Given the description of an element on the screen output the (x, y) to click on. 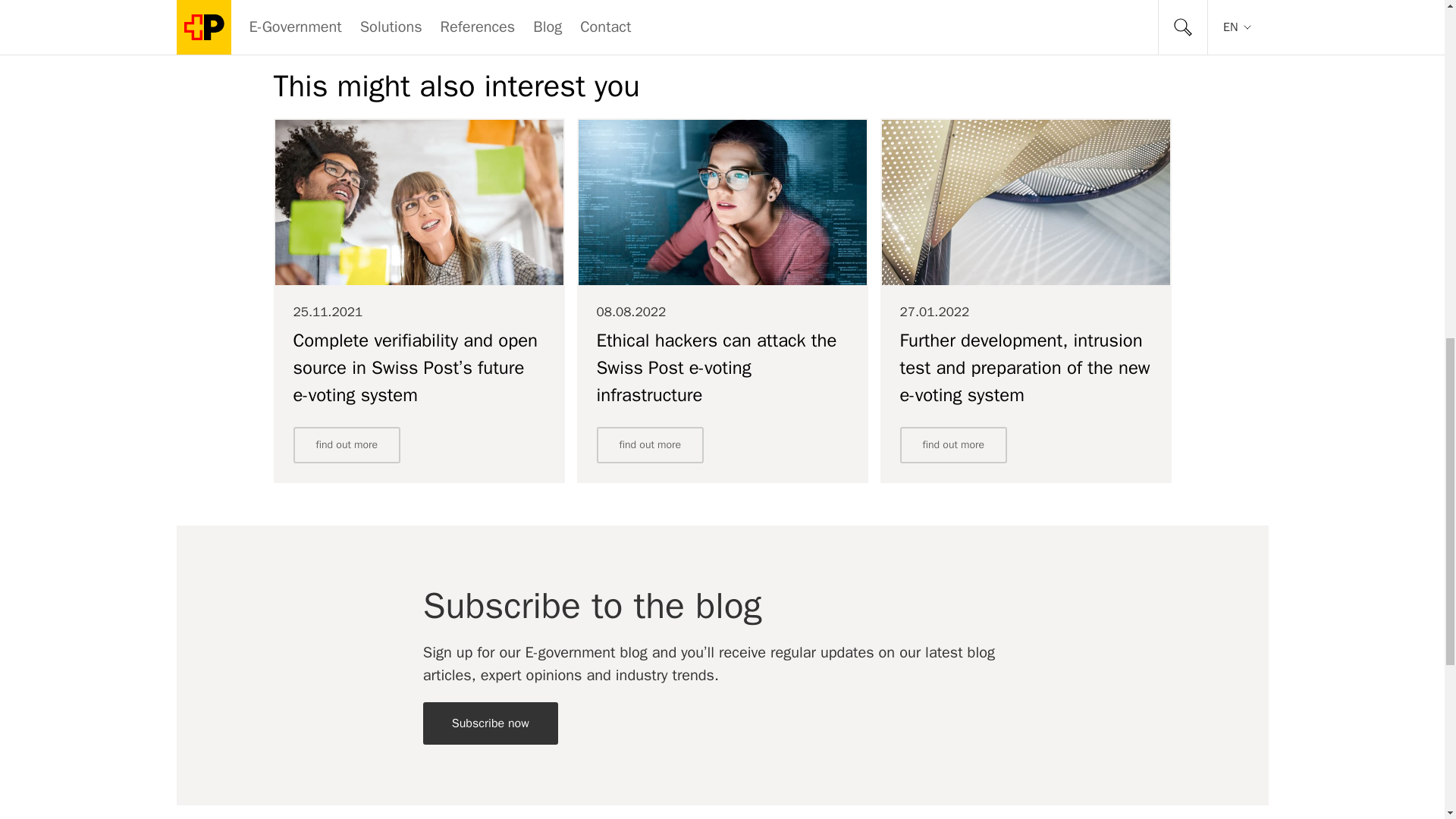
find out more (346, 444)
Subscribe now (490, 722)
find out more (649, 444)
find out more (953, 444)
